Given the description of an element on the screen output the (x, y) to click on. 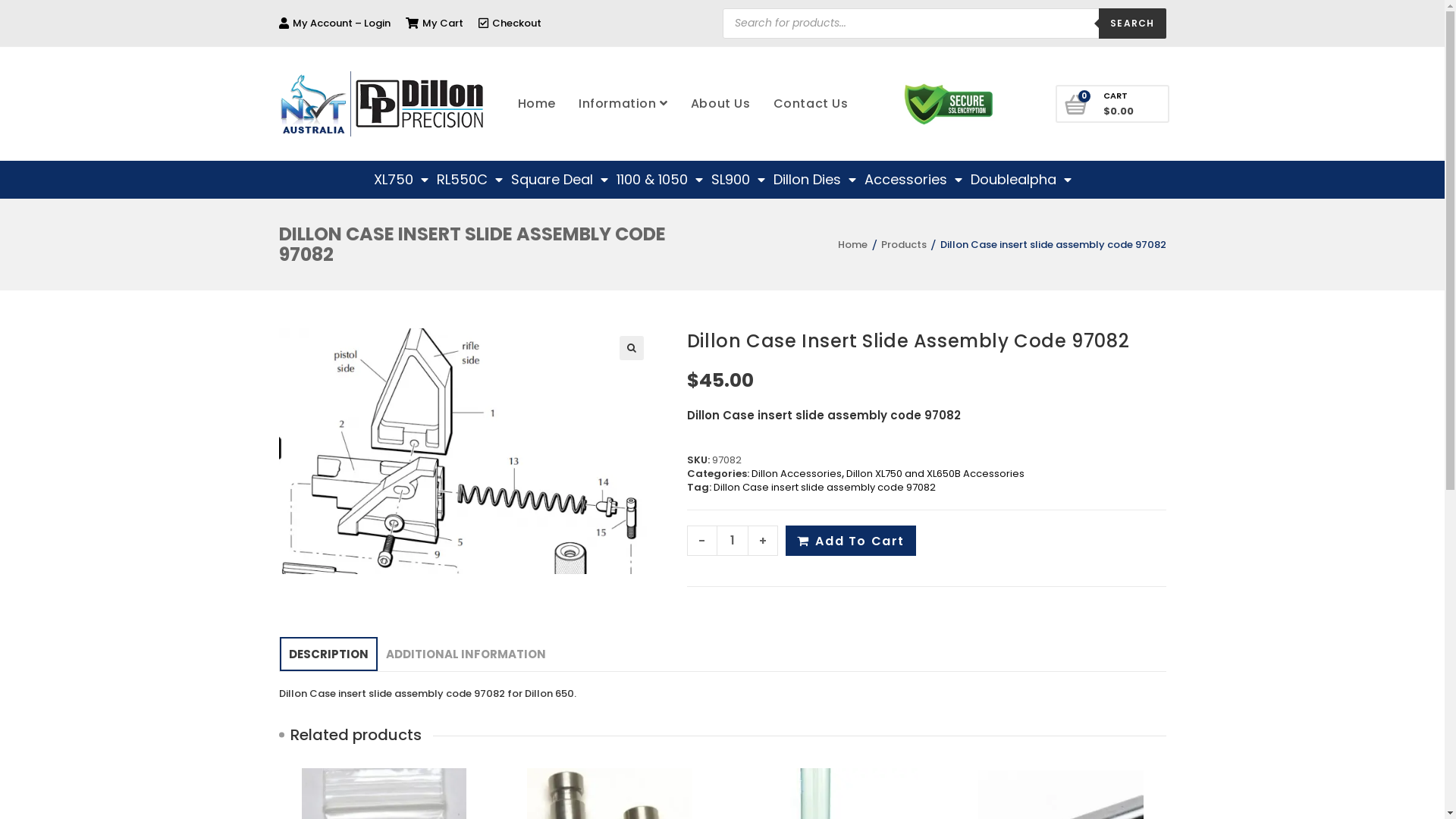
+ Element type: text (762, 540)
RL550C Element type: text (469, 179)
Home Element type: text (850, 244)
Doublealpha Element type: text (1021, 179)
DESCRIPTION Element type: text (327, 654)
Dillon Case insert slide assembly code 97082 Element type: hover (465, 451)
About Us Element type: text (720, 103)
Add To Cart Element type: text (850, 540)
Dillon Accessories Element type: text (796, 473)
Information Element type: text (623, 103)
Square Deal Element type: text (559, 179)
0 Element type: text (1076, 105)
Home Element type: text (536, 103)
ADDITIONAL INFORMATION Element type: text (464, 654)
My Cart Element type: text (433, 23)
XL750 Element type: text (400, 179)
Dillon Dies Element type: text (814, 179)
Dillon XL750 and XL650B Accessories Element type: text (935, 473)
1100 & 1050 Element type: text (658, 179)
Contact Us Element type: text (810, 103)
SL900 Element type: text (737, 179)
SEARCH Element type: text (1131, 22)
Accessories Element type: text (912, 179)
- Element type: text (702, 540)
Products Element type: text (903, 244)
Dillon Case insert slide assembly code 97082 Element type: text (824, 487)
11505 Element type: text (1095, 121)
Checkout Element type: text (509, 23)
